Given the description of an element on the screen output the (x, y) to click on. 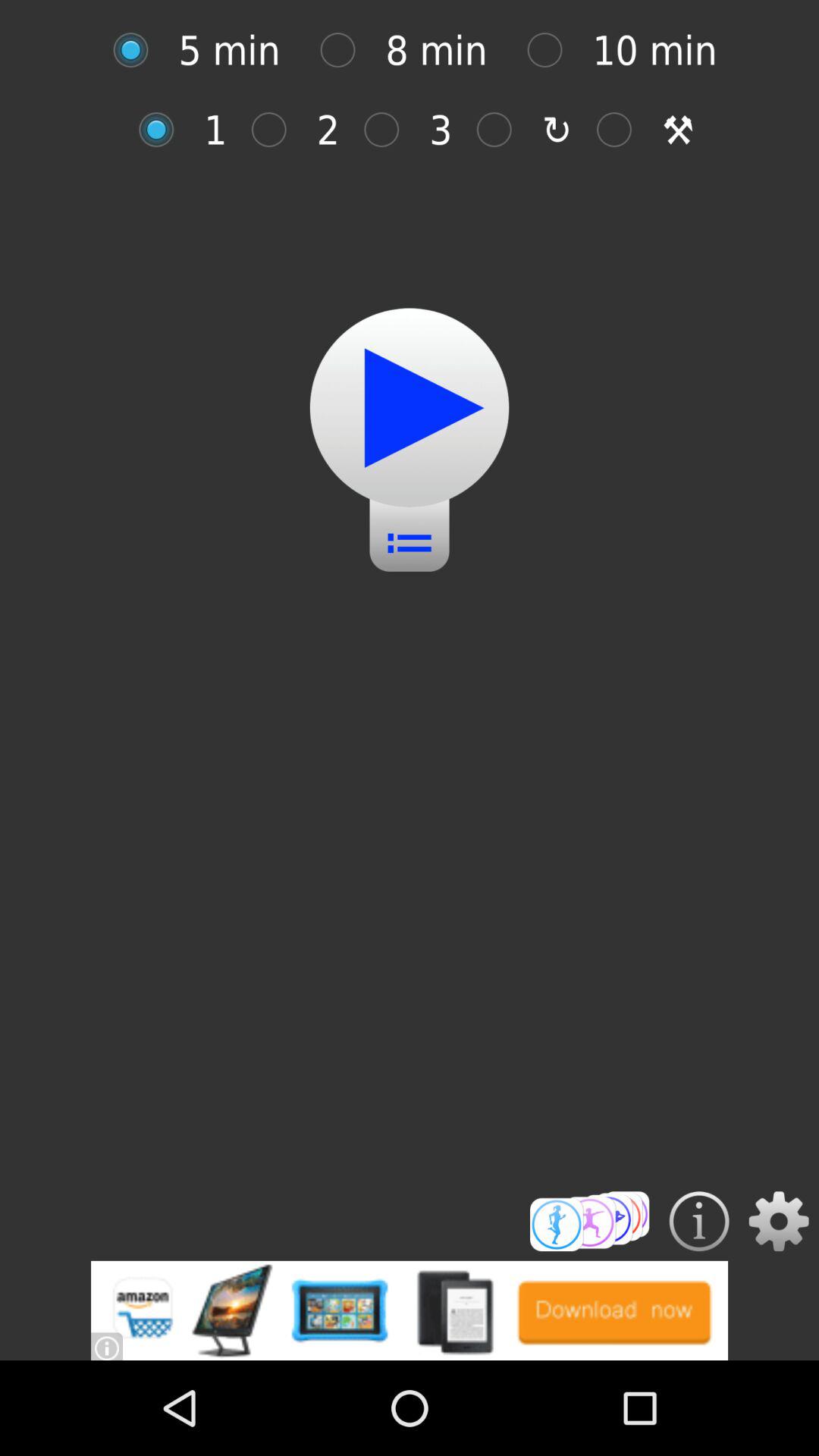
go to setting option (778, 1221)
